Given the description of an element on the screen output the (x, y) to click on. 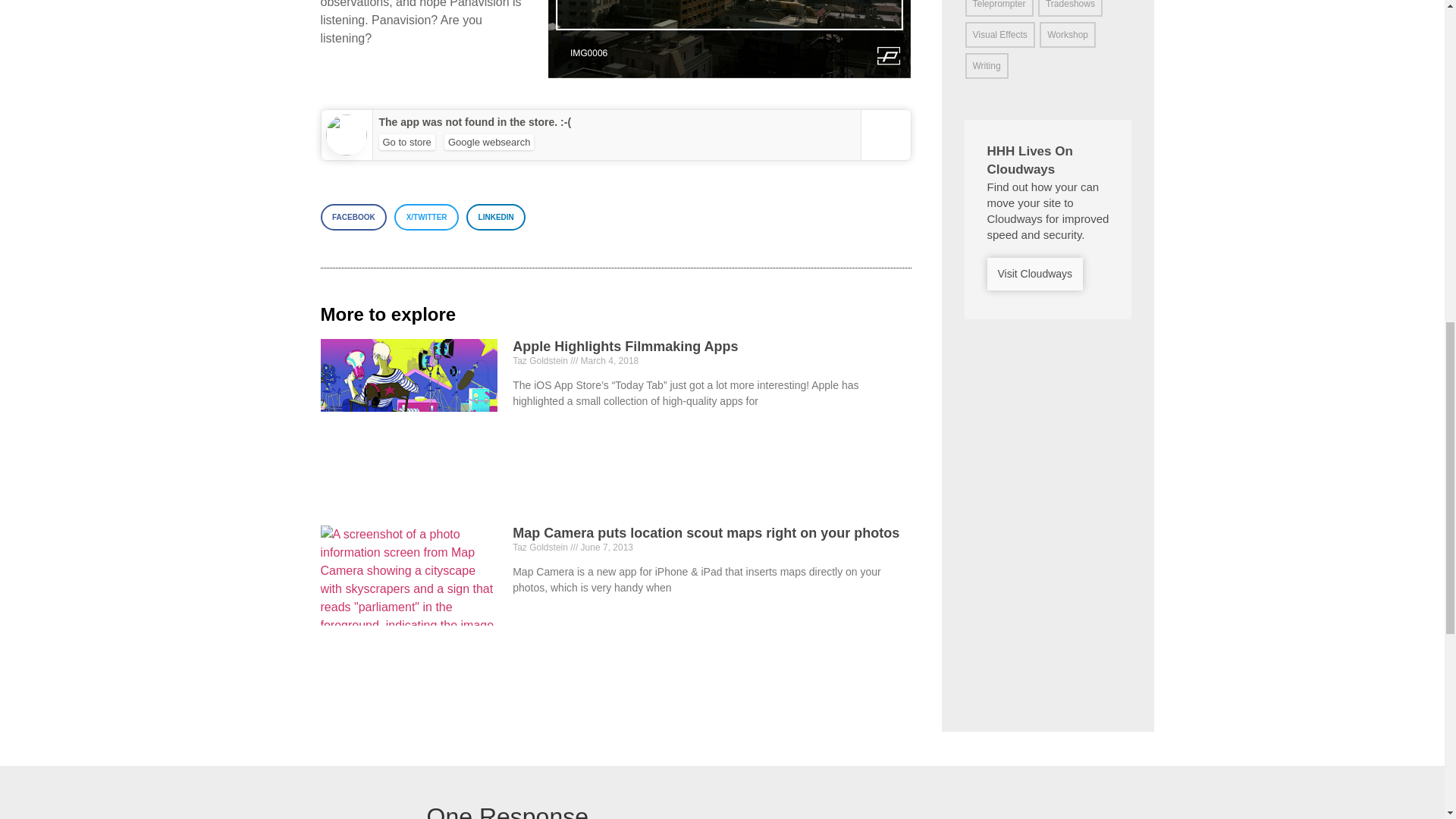
Apple Highlights Filmmaking Apps (625, 346)
Map Camera puts location scout maps right on your photos (705, 532)
Go to store (406, 141)
Google websearch (489, 141)
